Given the description of an element on the screen output the (x, y) to click on. 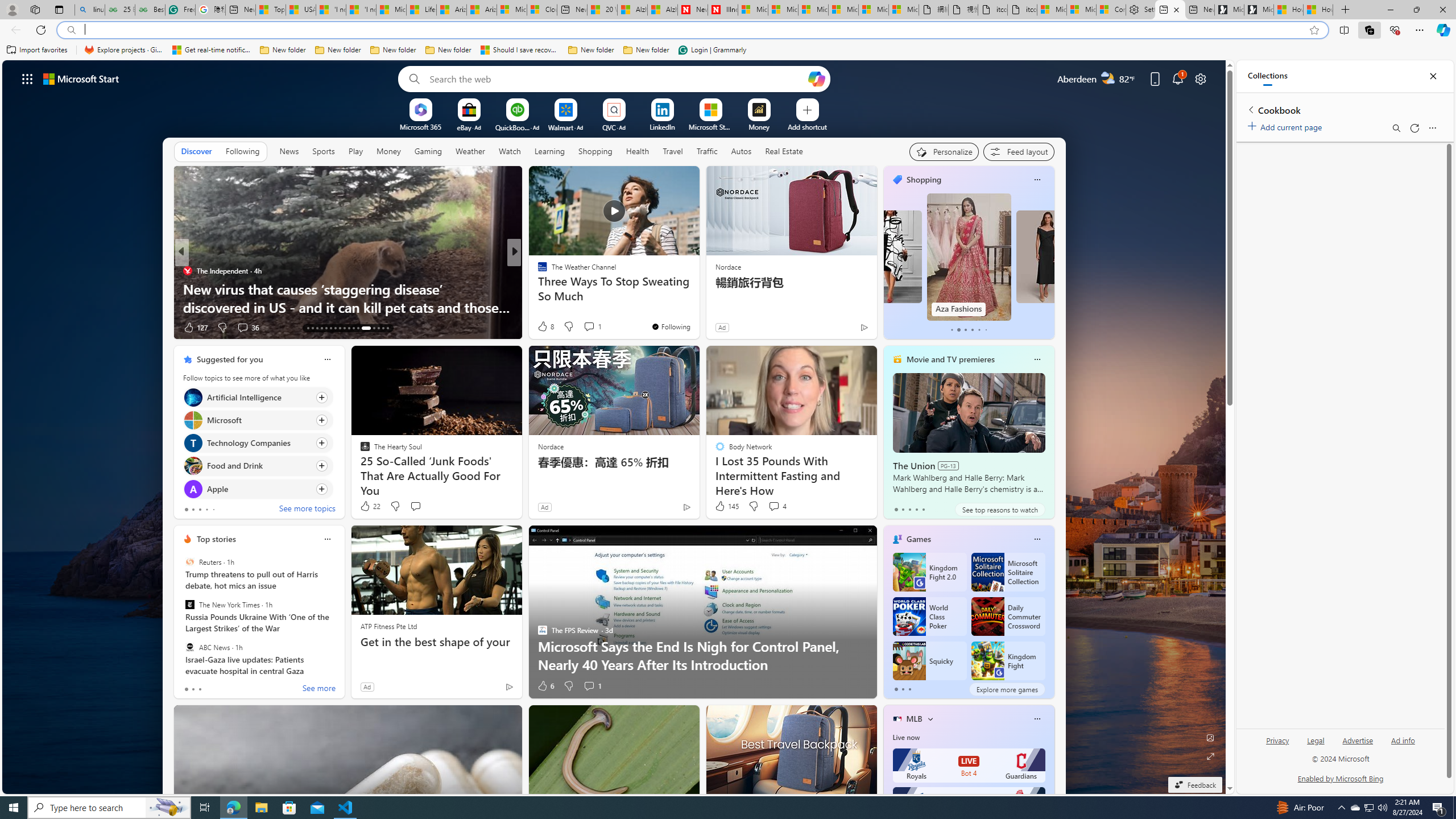
145 Like (726, 505)
Explore more games (1006, 689)
Add current page (1286, 124)
View comments 7 Comment (589, 327)
Click to follow topic Food and Drink (257, 465)
AutomationID: tab-19 (335, 328)
tab-4 (923, 509)
View comments 4 Comment (773, 505)
New folder (646, 49)
